Given the description of an element on the screen output the (x, y) to click on. 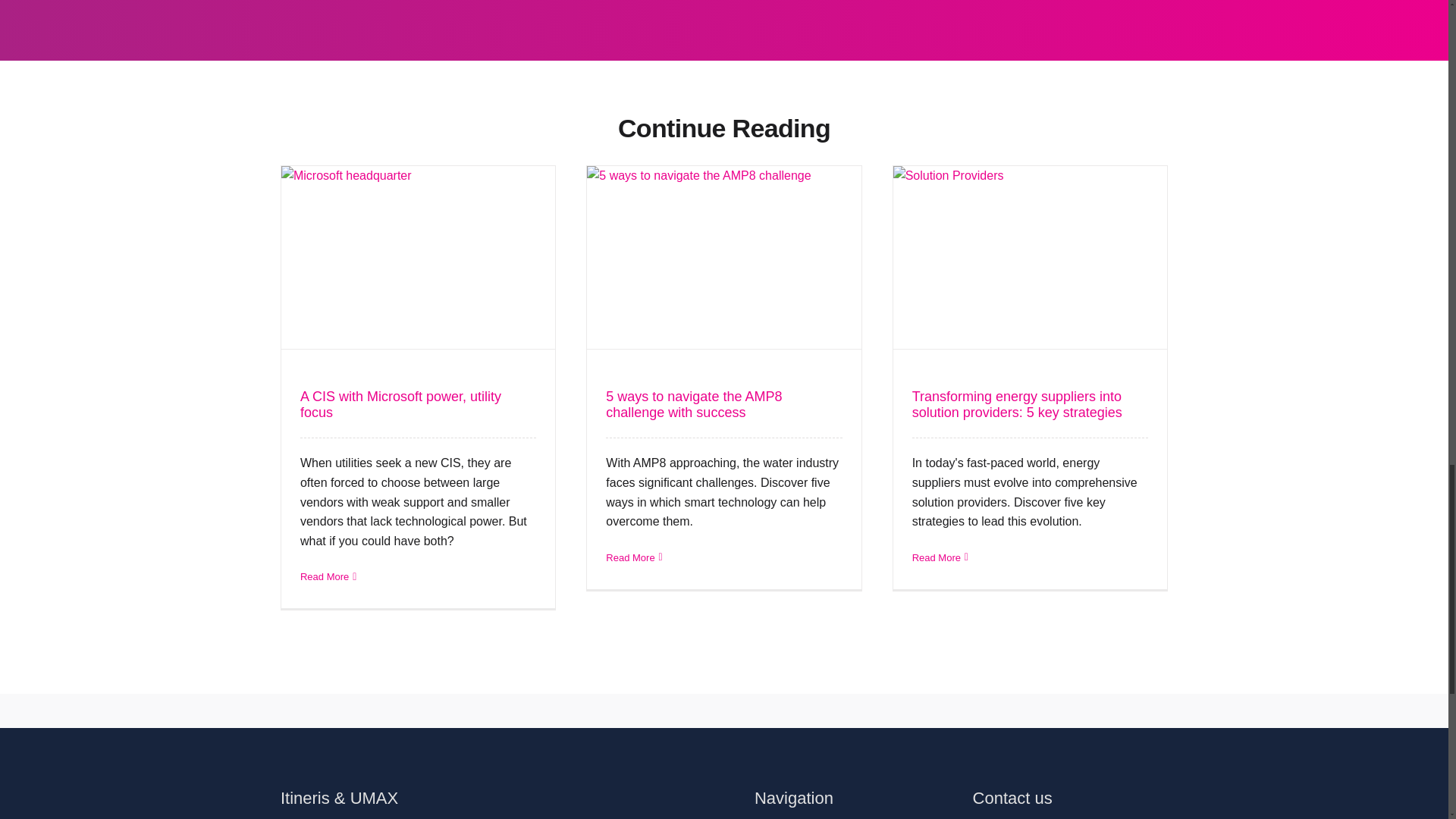
5 ways to navigate the AMP8 challenge with success 5 (723, 257)
A CIS with Microsoft power, utility focus 4 (417, 257)
